Given the description of an element on the screen output the (x, y) to click on. 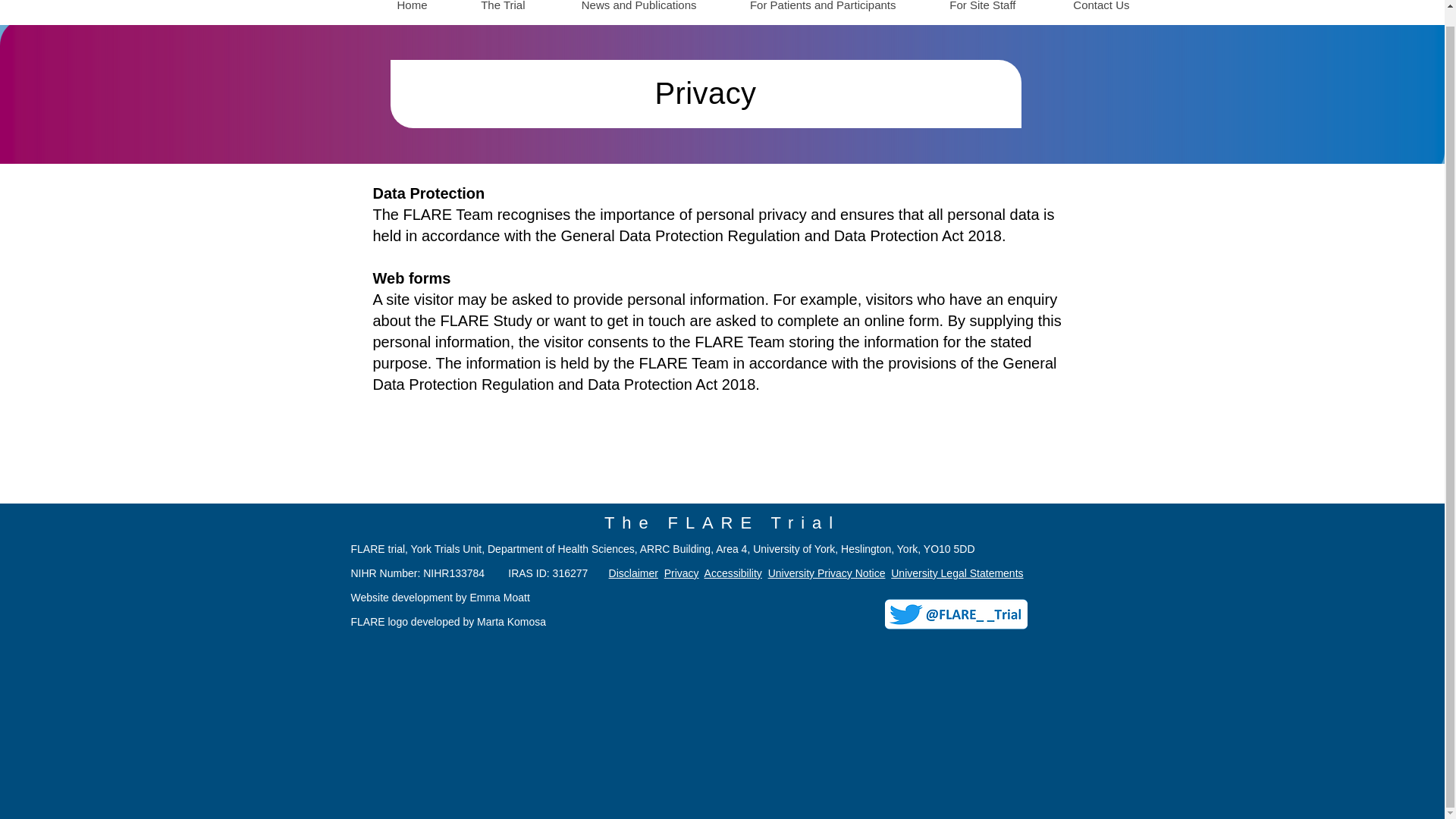
Disclaimer (633, 573)
The FLARE Trial (722, 522)
University Legal Statements (957, 573)
Privacy (680, 573)
News and Publications (622, 11)
Accessibility (732, 573)
University Privacy Notice (826, 573)
The Trial (486, 11)
Home (394, 11)
For Patients and Participants (807, 11)
